Given the description of an element on the screen output the (x, y) to click on. 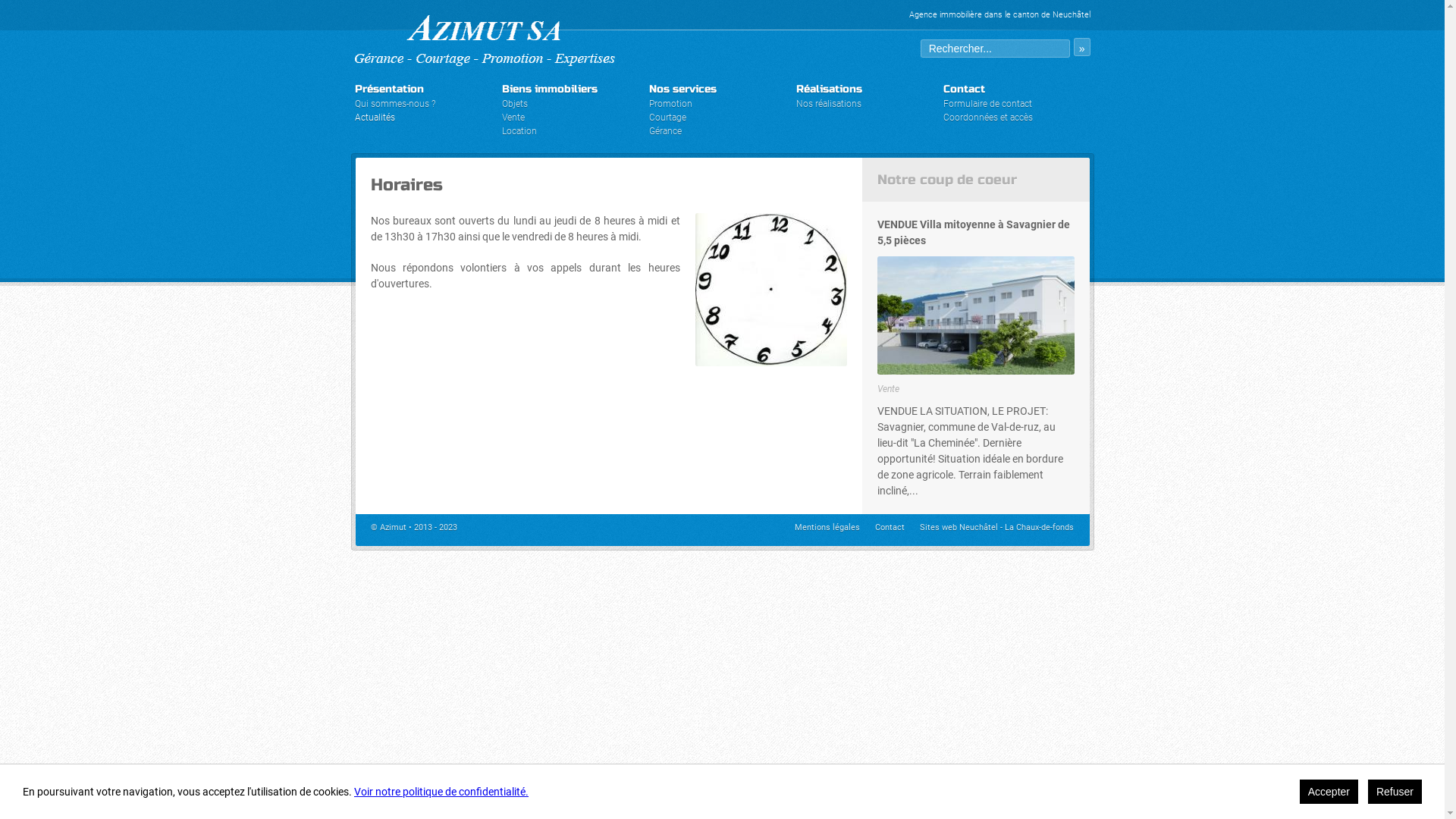
Promotion Element type: text (670, 103)
Formulaire de contact Element type: text (987, 103)
Nos services Element type: text (682, 88)
Accepter Element type: text (1328, 791)
Courtage Element type: text (667, 117)
Location Element type: text (519, 130)
Contact Element type: text (889, 527)
Biens immobiliers Element type: text (549, 88)
Objets Element type: text (514, 103)
Qui sommes-nous ? Element type: text (394, 103)
Vente Element type: text (513, 117)
Refuser Element type: text (1394, 791)
